Given the description of an element on the screen output the (x, y) to click on. 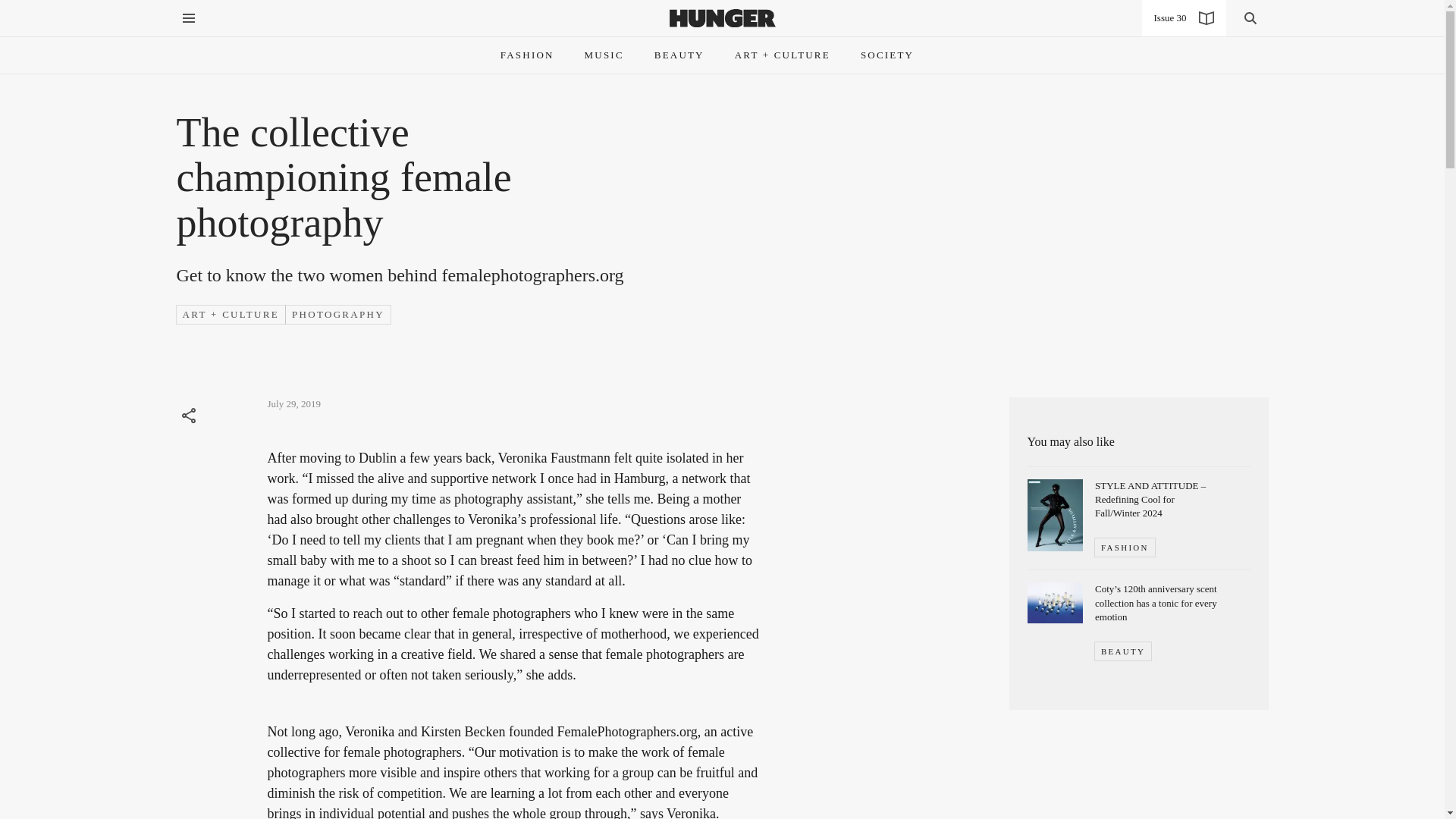
Issue 30 (1183, 18)
BEAUTY (678, 54)
FASHION (1124, 547)
SOCIETY (887, 54)
PHOTOGRAPHY (338, 314)
BEAUTY (1122, 651)
MUSIC (604, 54)
FASHION (527, 54)
